Given the description of an element on the screen output the (x, y) to click on. 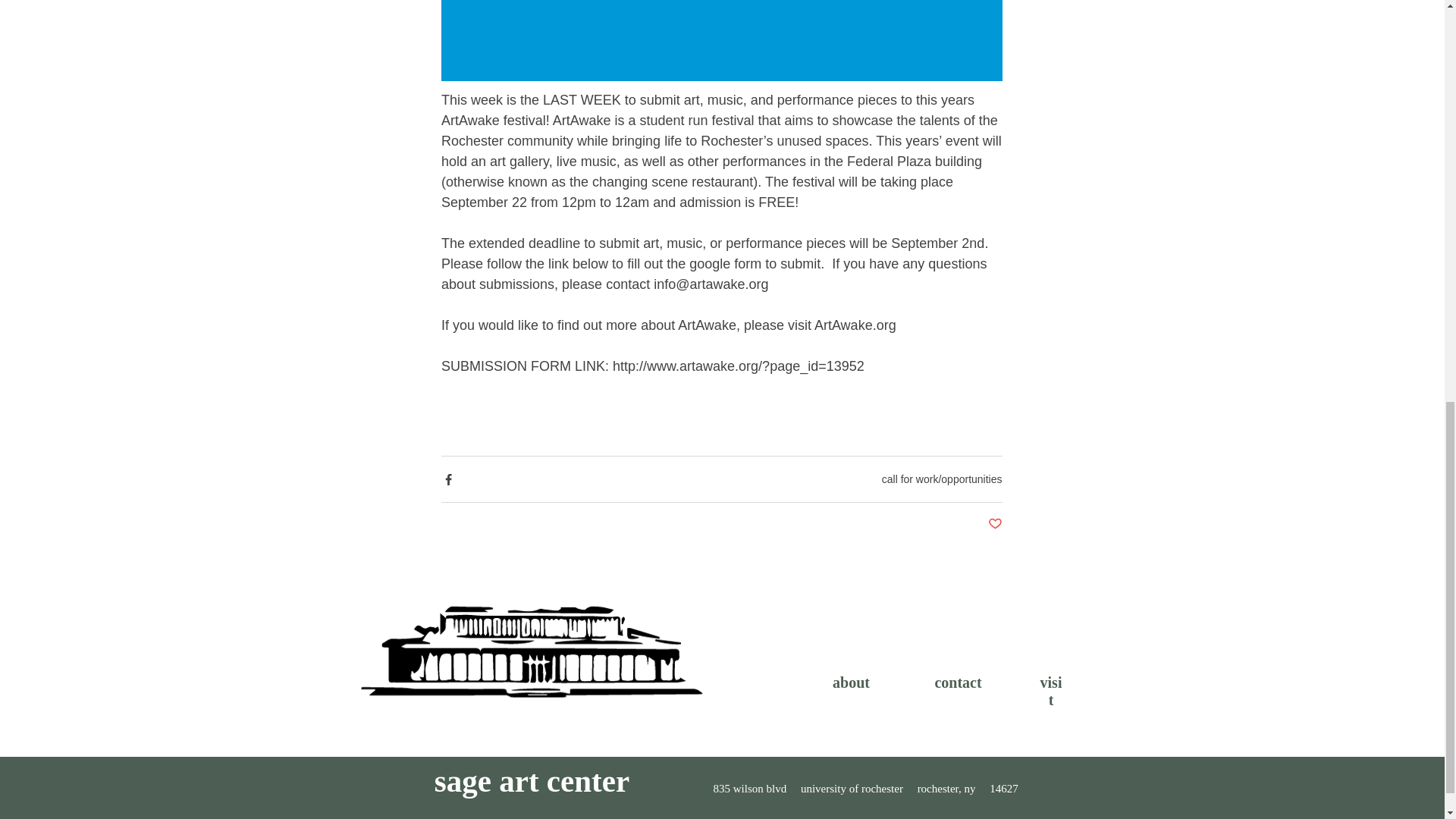
contact (957, 682)
Post not marked as liked (994, 524)
sage art center (530, 780)
about (850, 682)
